Given the description of an element on the screen output the (x, y) to click on. 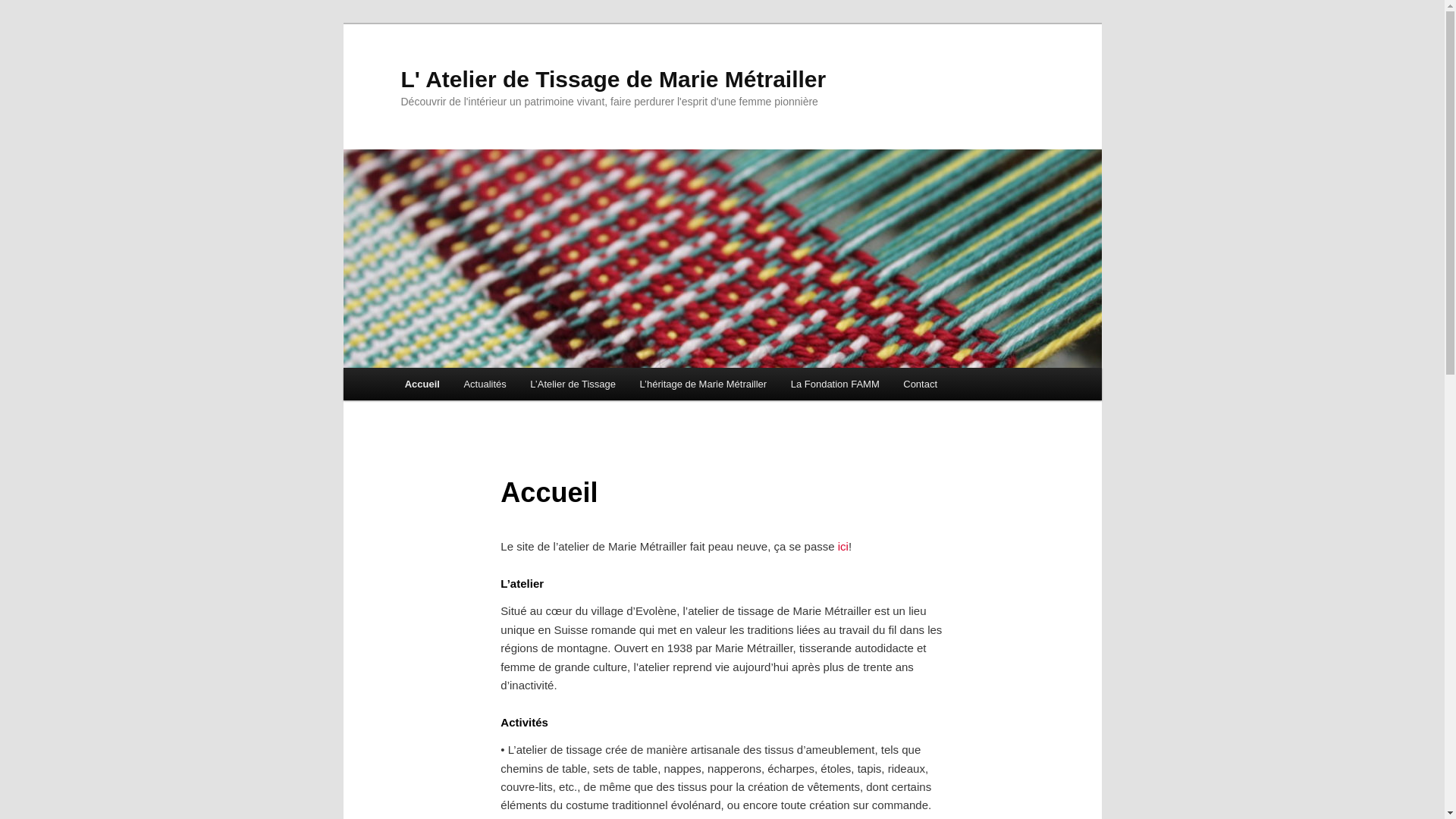
La Fondation FAMM Element type: text (834, 383)
Aller au contenu principal Element type: text (22, 22)
Accueil Element type: text (421, 383)
ici Element type: text (842, 545)
Contact Element type: text (920, 383)
